Given the description of an element on the screen output the (x, y) to click on. 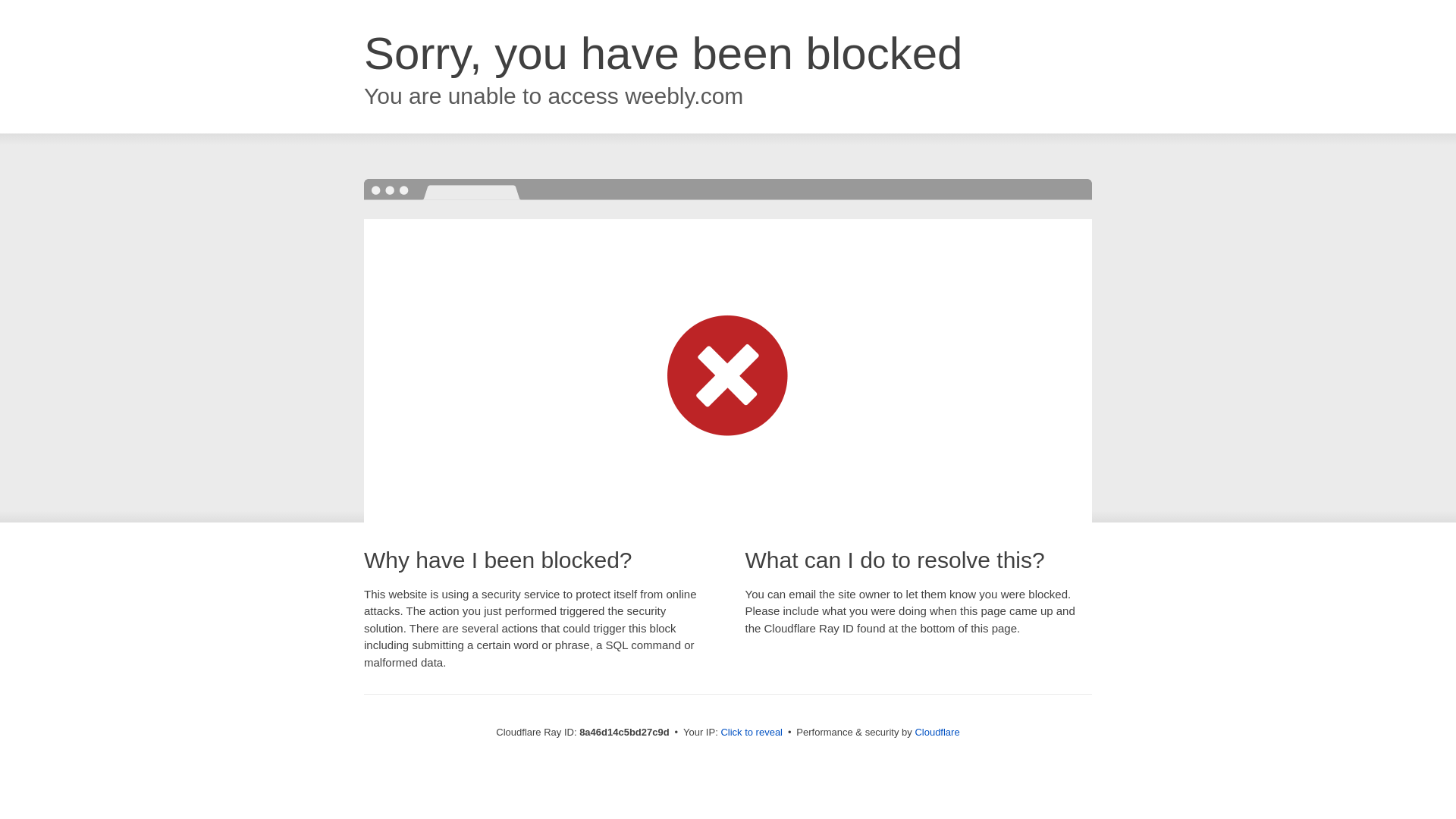
Cloudflare (936, 731)
Click to reveal (751, 732)
